Given the description of an element on the screen output the (x, y) to click on. 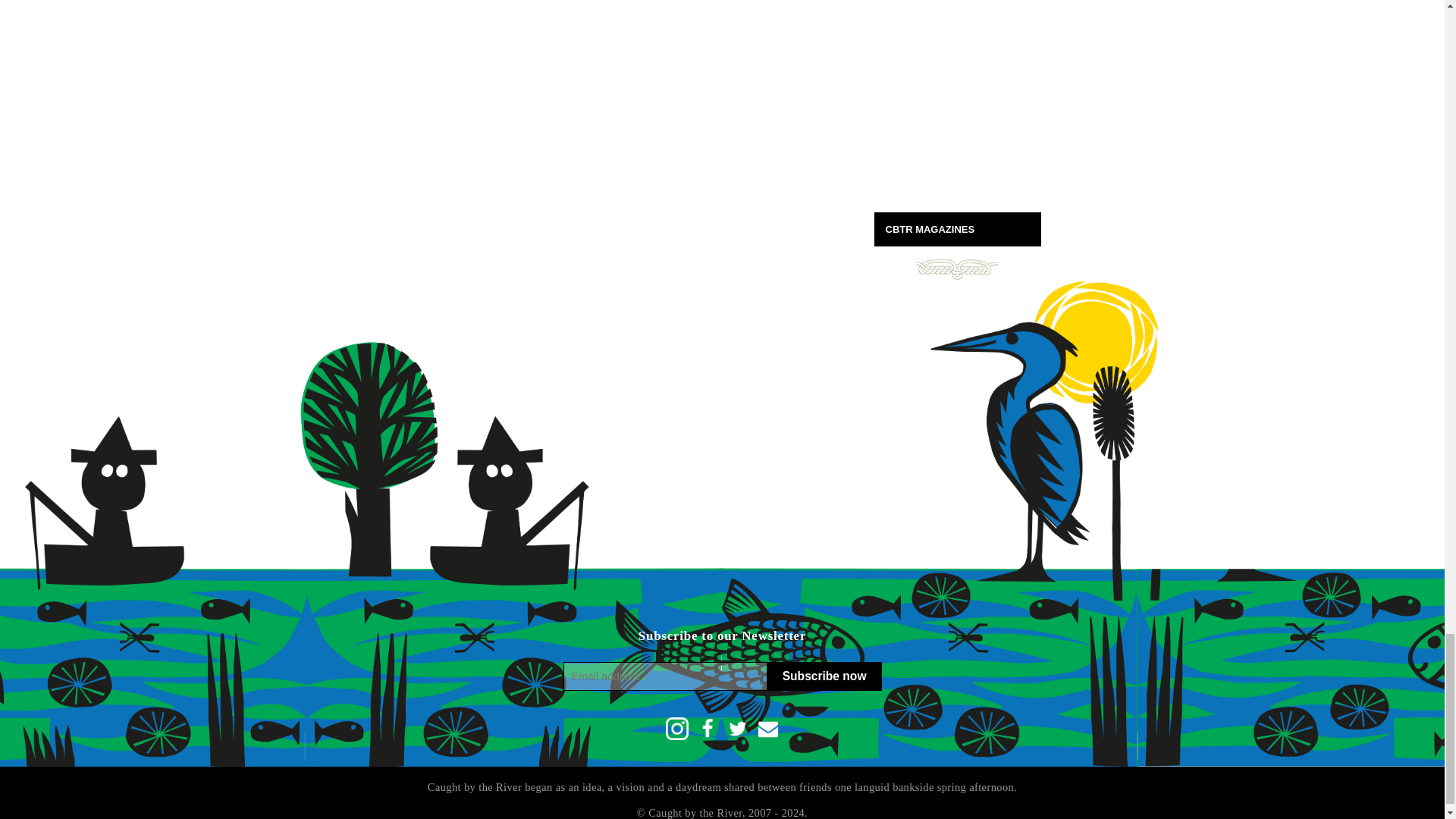
Find us on Facebook (707, 728)
Email usk (767, 728)
Subscribe now (824, 676)
Follow us on Twitter (737, 728)
Follow us on Instagram (676, 728)
